Given the description of an element on the screen output the (x, y) to click on. 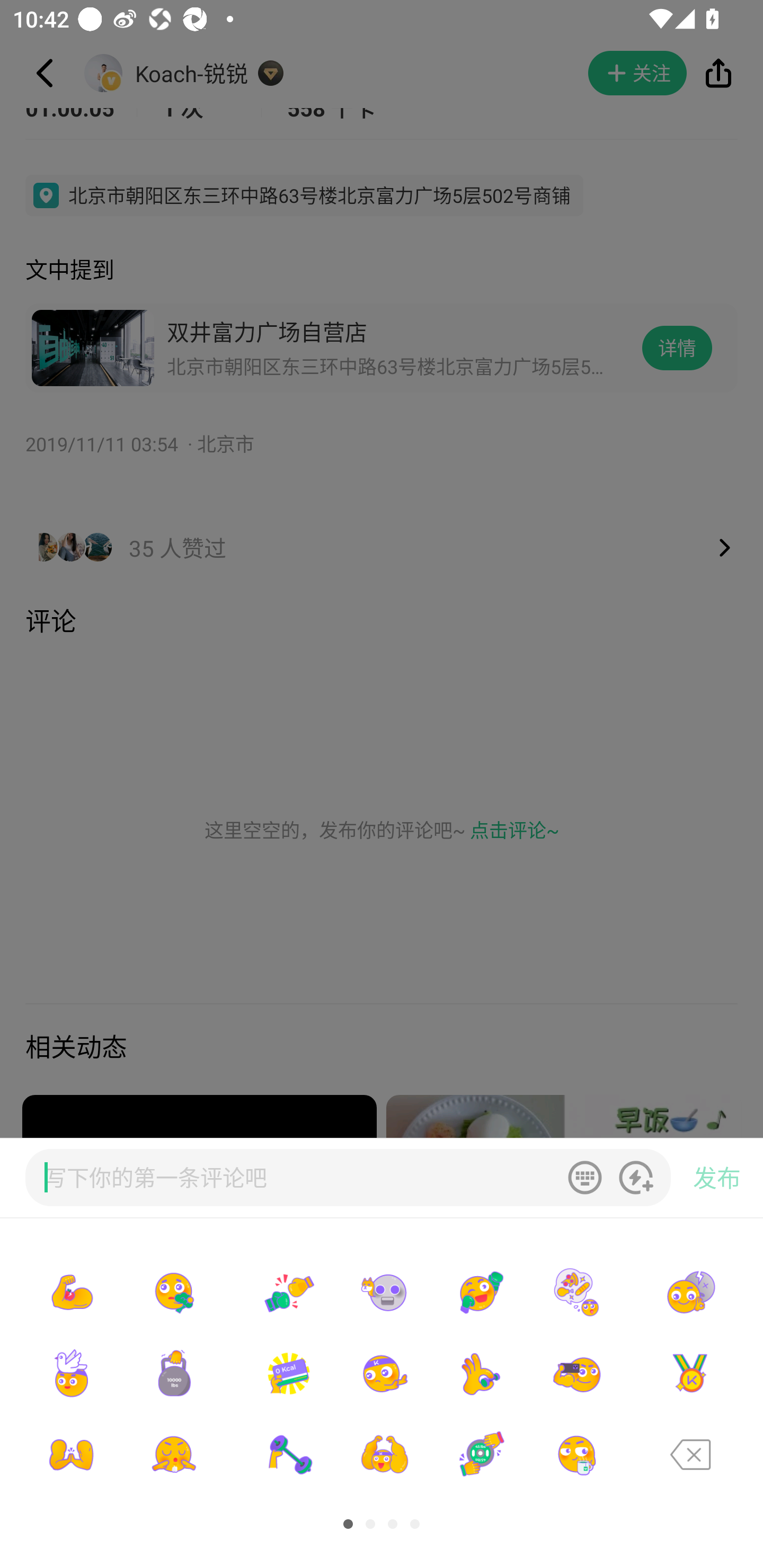
写下你的第一条评论吧 发布 (381, 1178)
发布 (716, 1177)
